Given the description of an element on the screen output the (x, y) to click on. 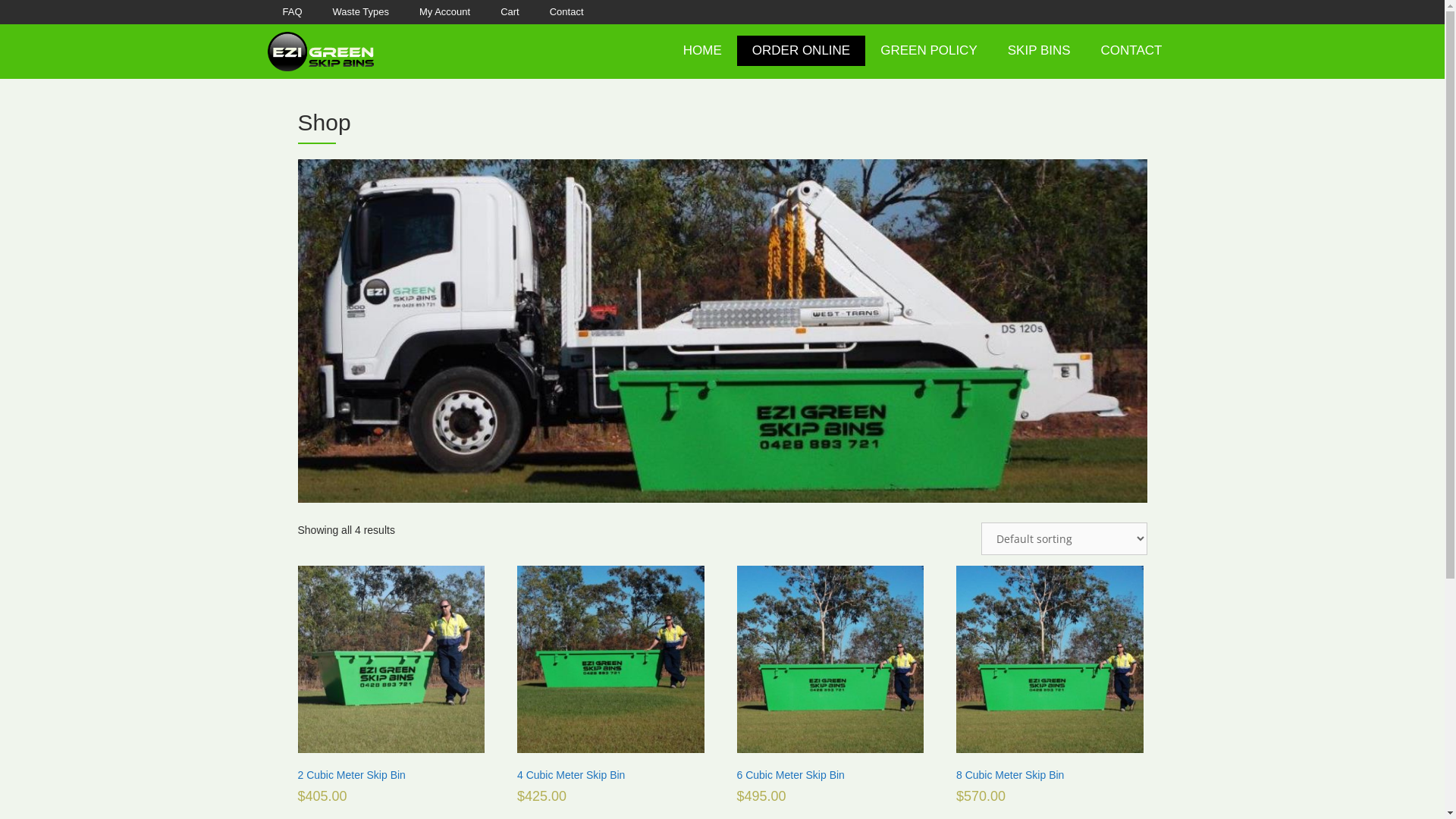
My Account Element type: text (444, 12)
CONTACT Element type: text (1131, 50)
Waste Types Element type: text (360, 12)
GREEN POLICY Element type: text (928, 50)
Contact Element type: text (566, 12)
SKIP BINS Element type: text (1038, 50)
FAQ Element type: text (291, 12)
ORDER ONLINE Element type: text (801, 50)
Cart Element type: text (509, 12)
Ezi Green Skip Bins Element type: hover (319, 51)
HOME Element type: text (702, 50)
Ezi Green Skip Bins Element type: hover (319, 50)
